Given the description of an element on the screen output the (x, y) to click on. 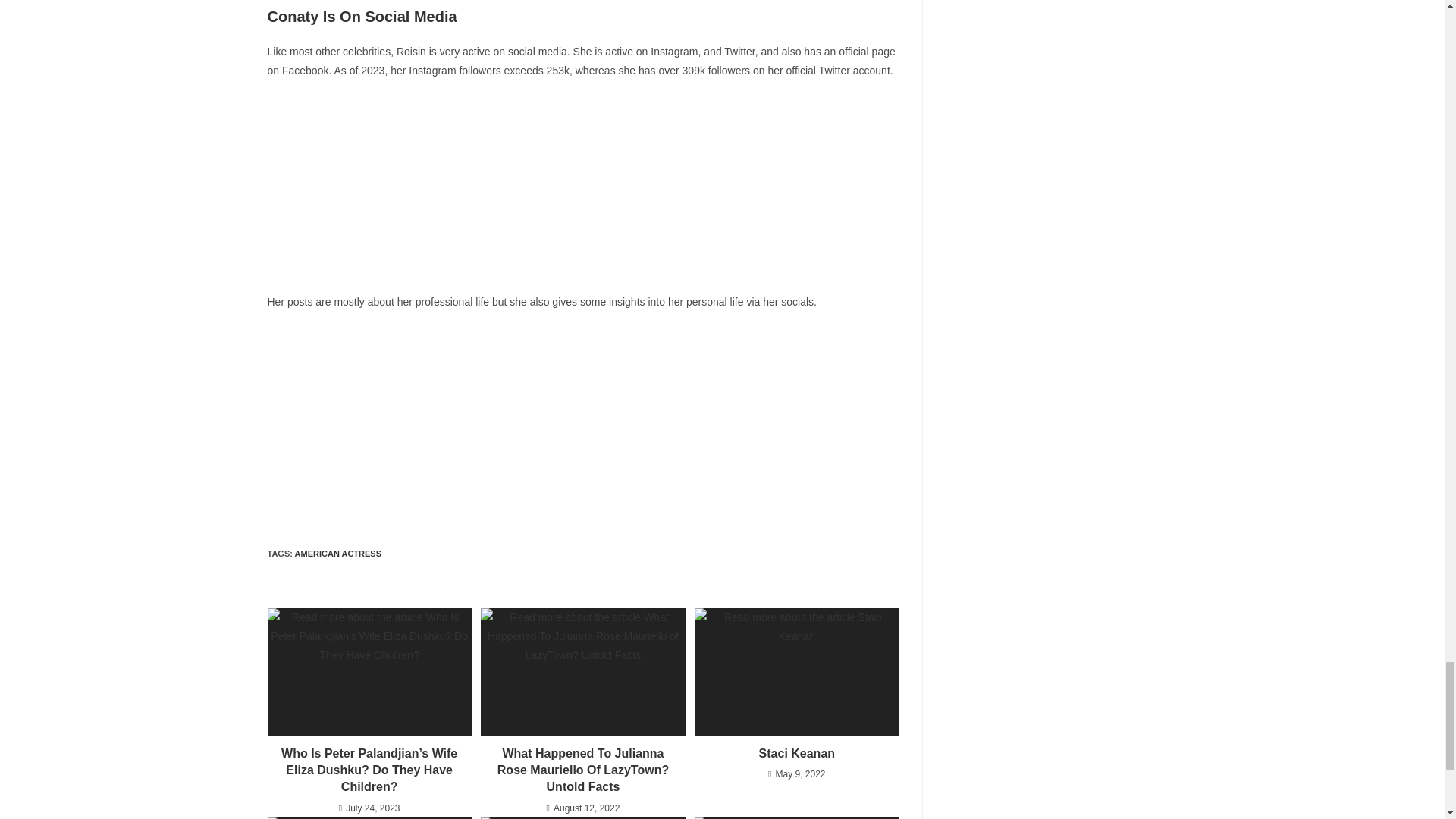
Staci Keanan (796, 753)
AMERICAN ACTRESS (338, 552)
